Given the description of an element on the screen output the (x, y) to click on. 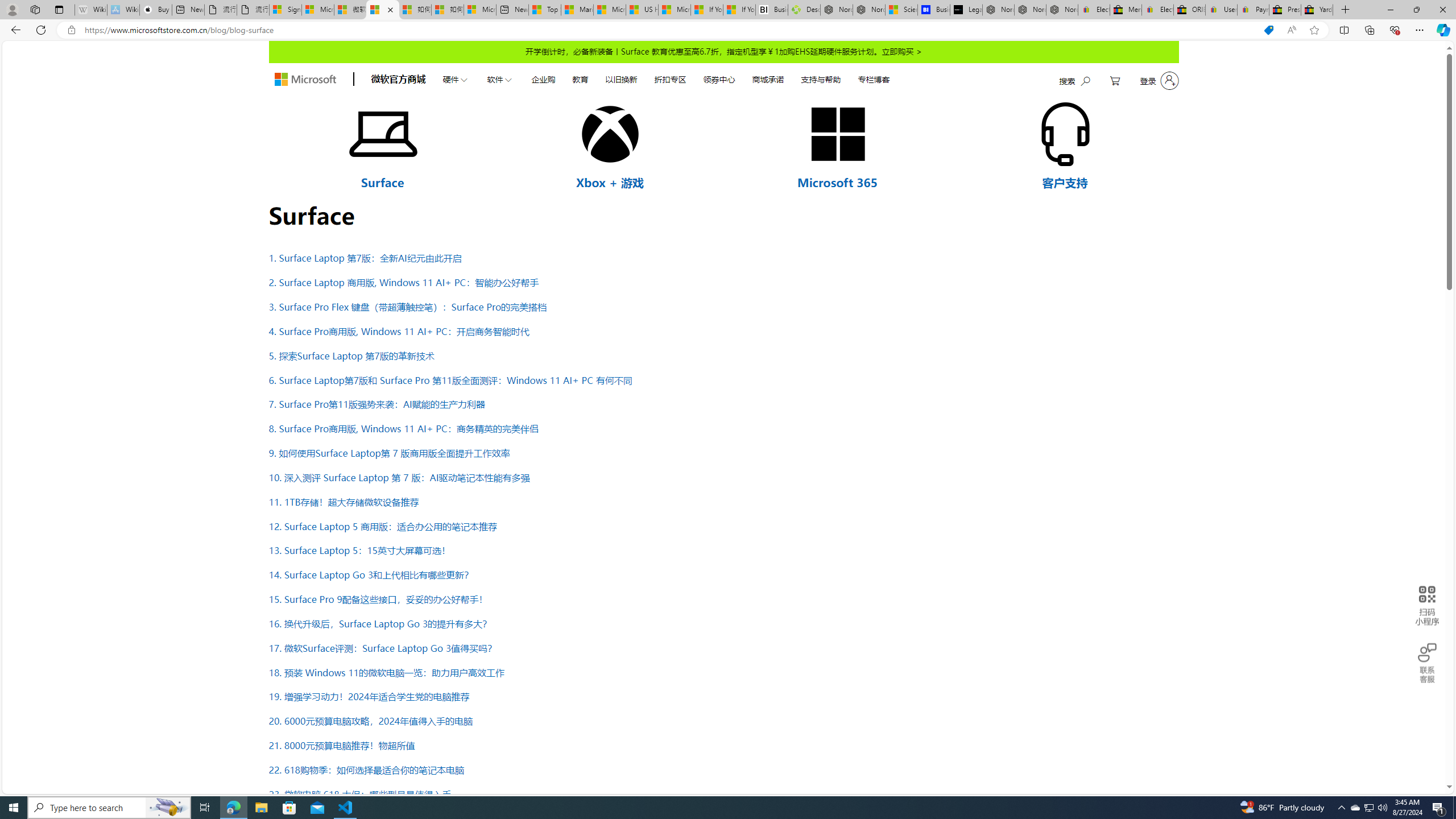
My Cart (1115, 80)
